Given the description of an element on the screen output the (x, y) to click on. 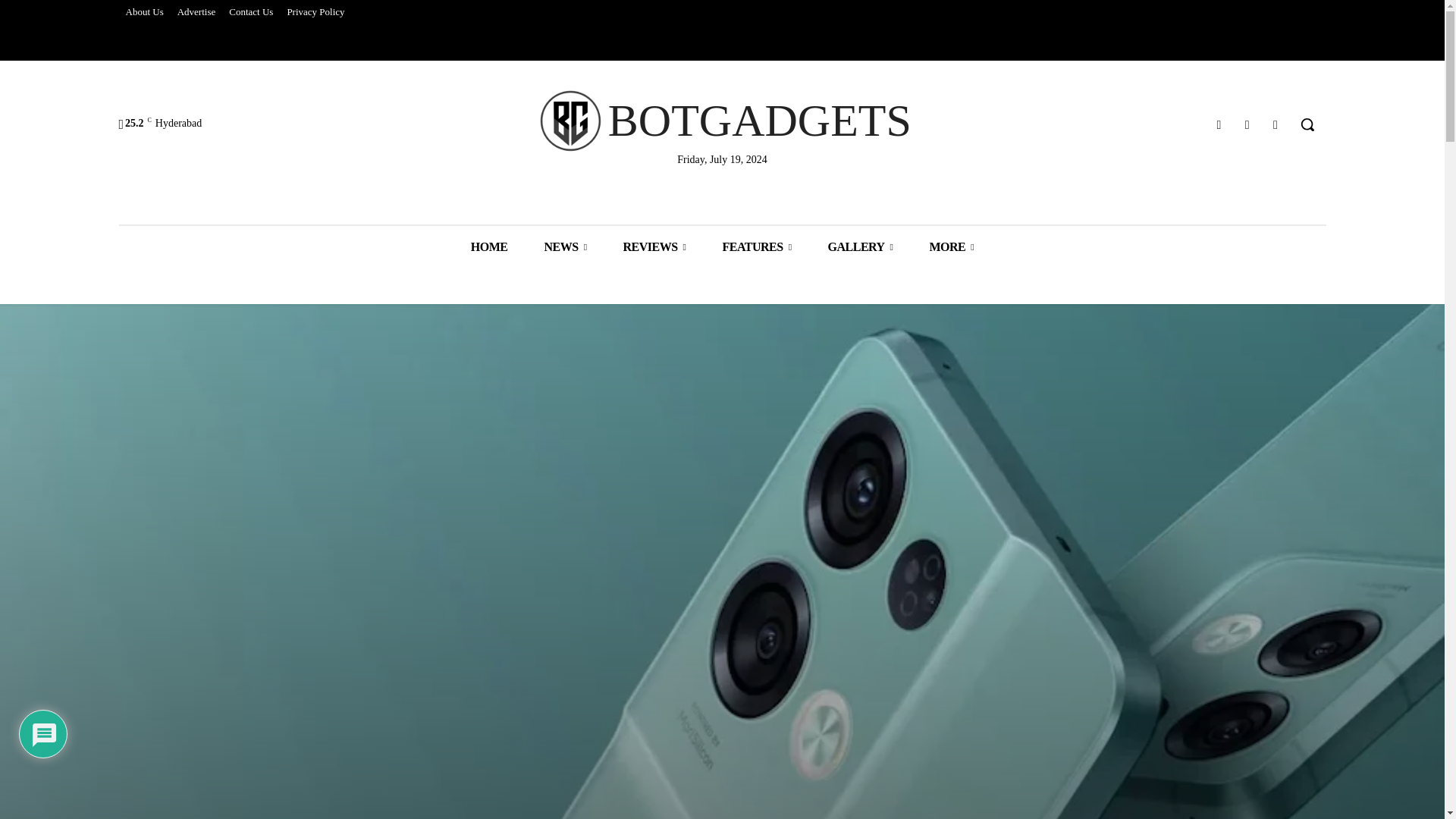
Twitter (1246, 124)
About Us (143, 12)
Youtube (1275, 124)
Facebook (1218, 124)
Advertise (196, 12)
